Given the description of an element on the screen output the (x, y) to click on. 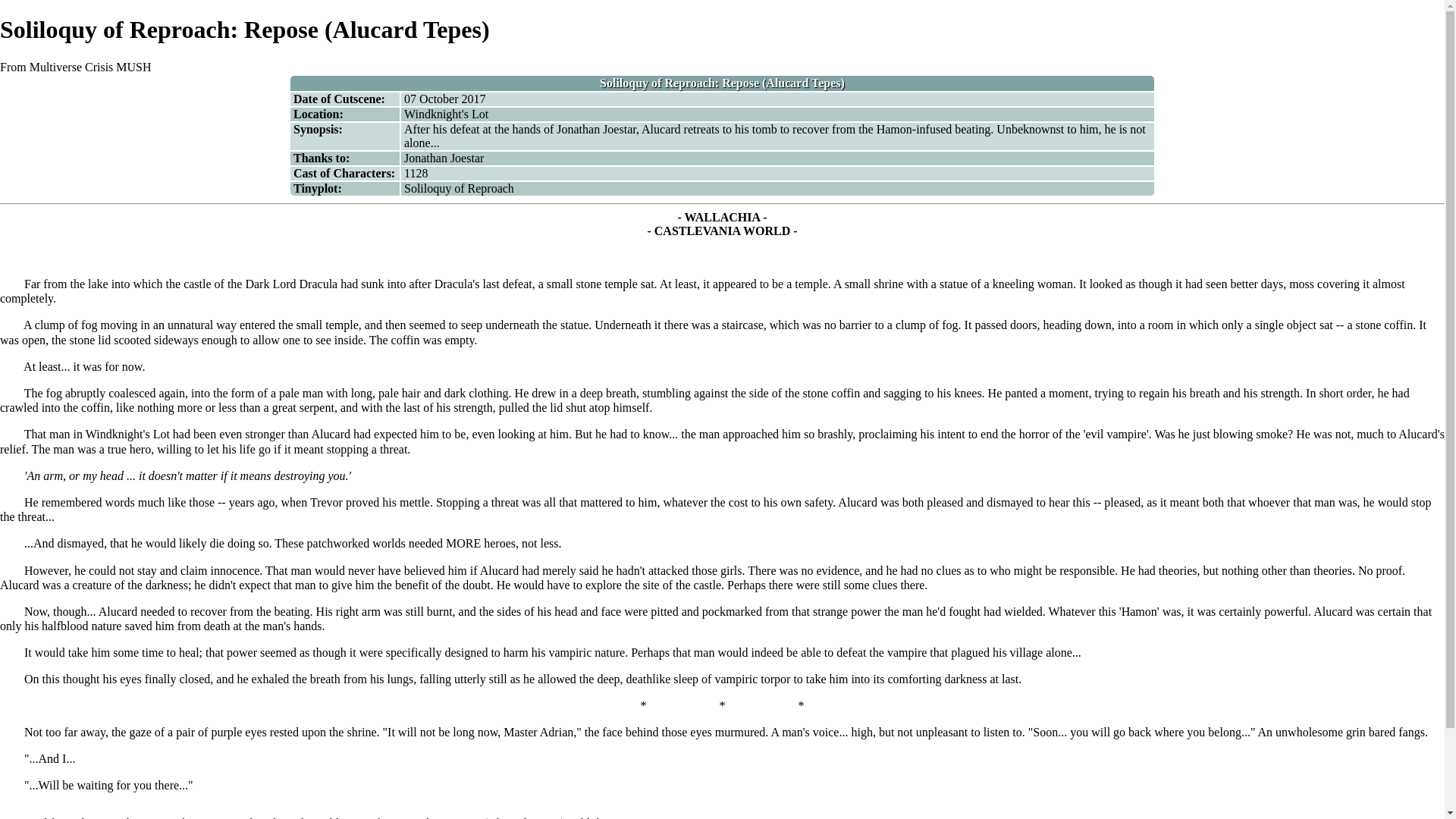
Soliloquy of Reproach (458, 187)
Soliloquy of Reproach (458, 187)
Windknight's Lot (445, 113)
